Given the description of an element on the screen output the (x, y) to click on. 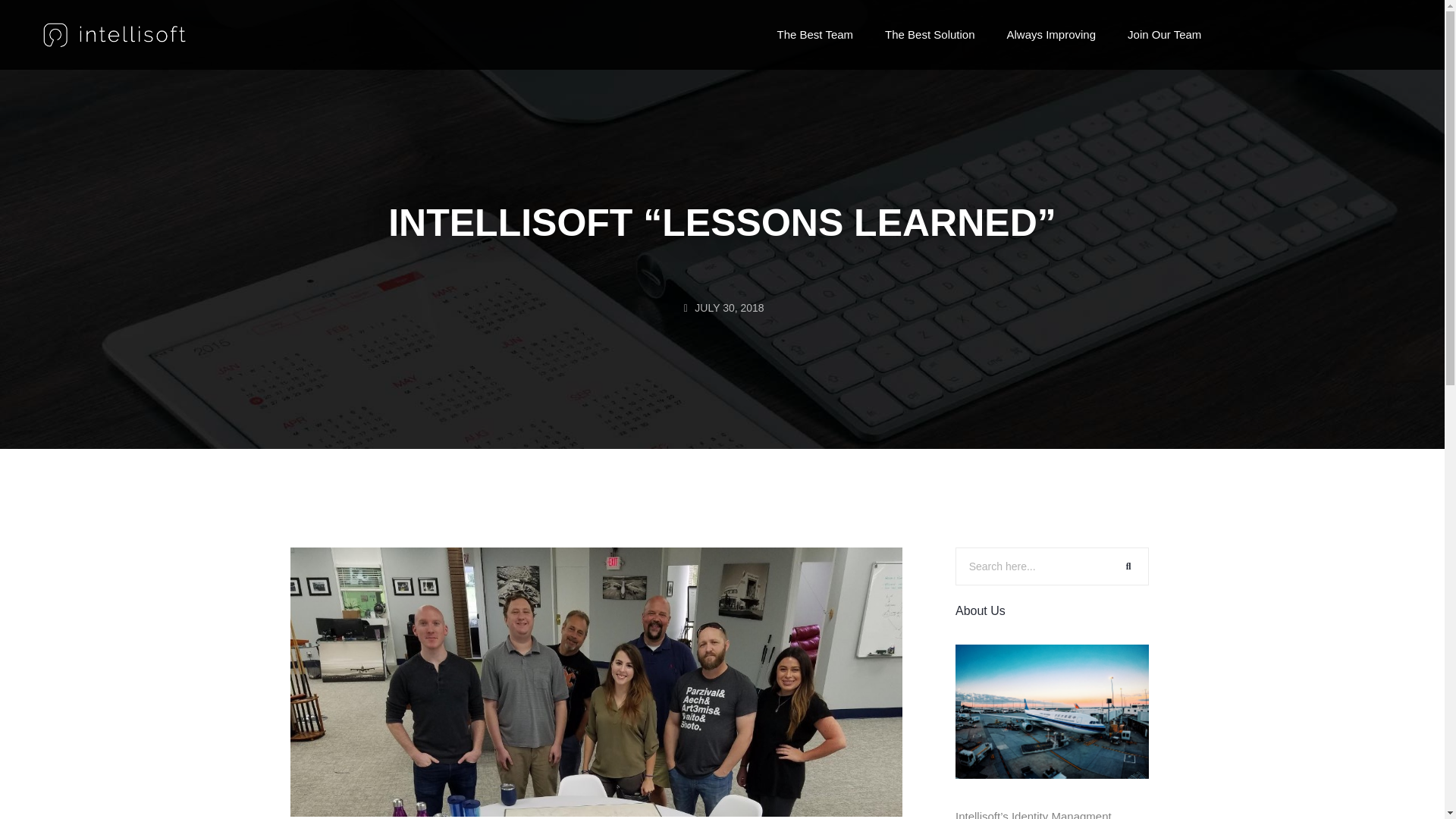
The Best Solution (929, 34)
Join Our Team (1163, 34)
JULY 30, 2018 (720, 307)
The Best Team (814, 34)
Always Improving (1051, 34)
